Given the description of an element on the screen output the (x, y) to click on. 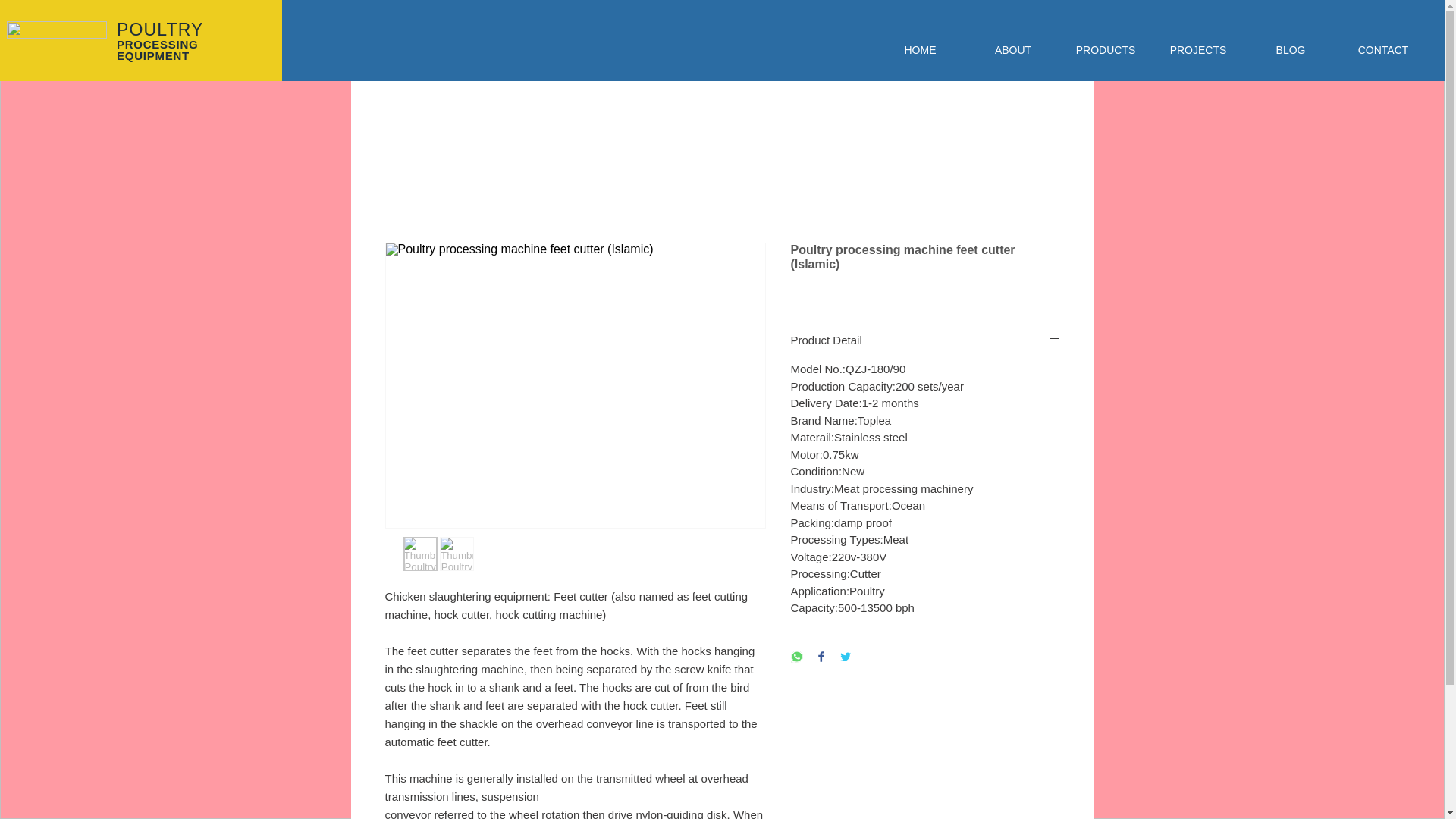
PRODUCTS (1105, 50)
HOME (919, 50)
ABOUT (1012, 50)
EQUIPMENT (152, 55)
PROJECTS (1197, 50)
POULTRY (159, 29)
Product Detail (924, 340)
BLOG (1290, 50)
PROCESSING (157, 43)
CONTACT (1382, 50)
